Given the description of an element on the screen output the (x, y) to click on. 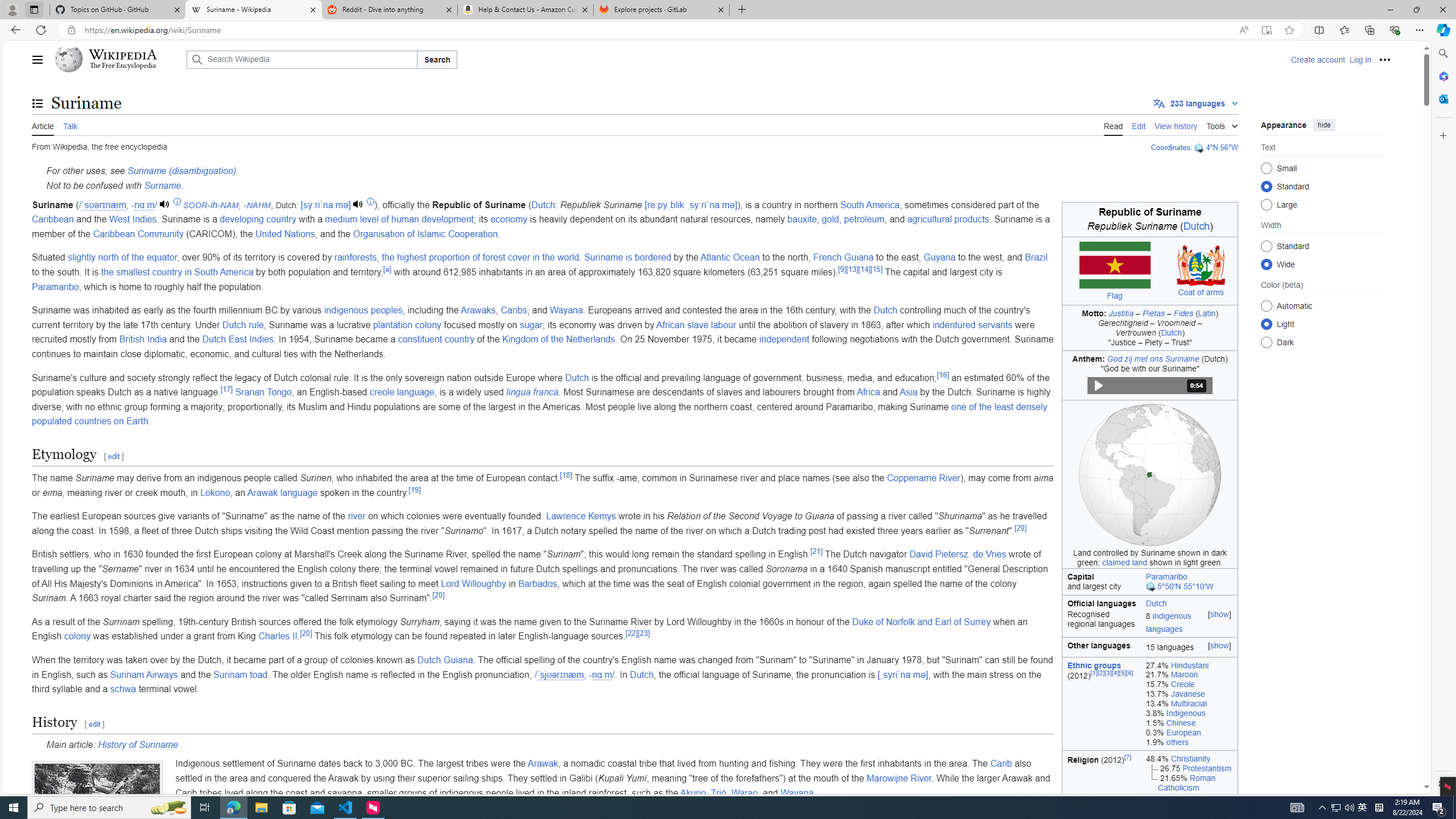
Protestantism (1206, 768)
[a] (386, 268)
Charles II (277, 636)
Dutch rule (242, 324)
the highest proportion of forest cover in the world (480, 257)
Dutch East Indies (237, 339)
economy (508, 219)
Edit (1138, 124)
Show location on an interactive map (1151, 586)
French Guiana (843, 257)
indentured servants (972, 324)
History of Suriname (137, 744)
